Given the description of an element on the screen output the (x, y) to click on. 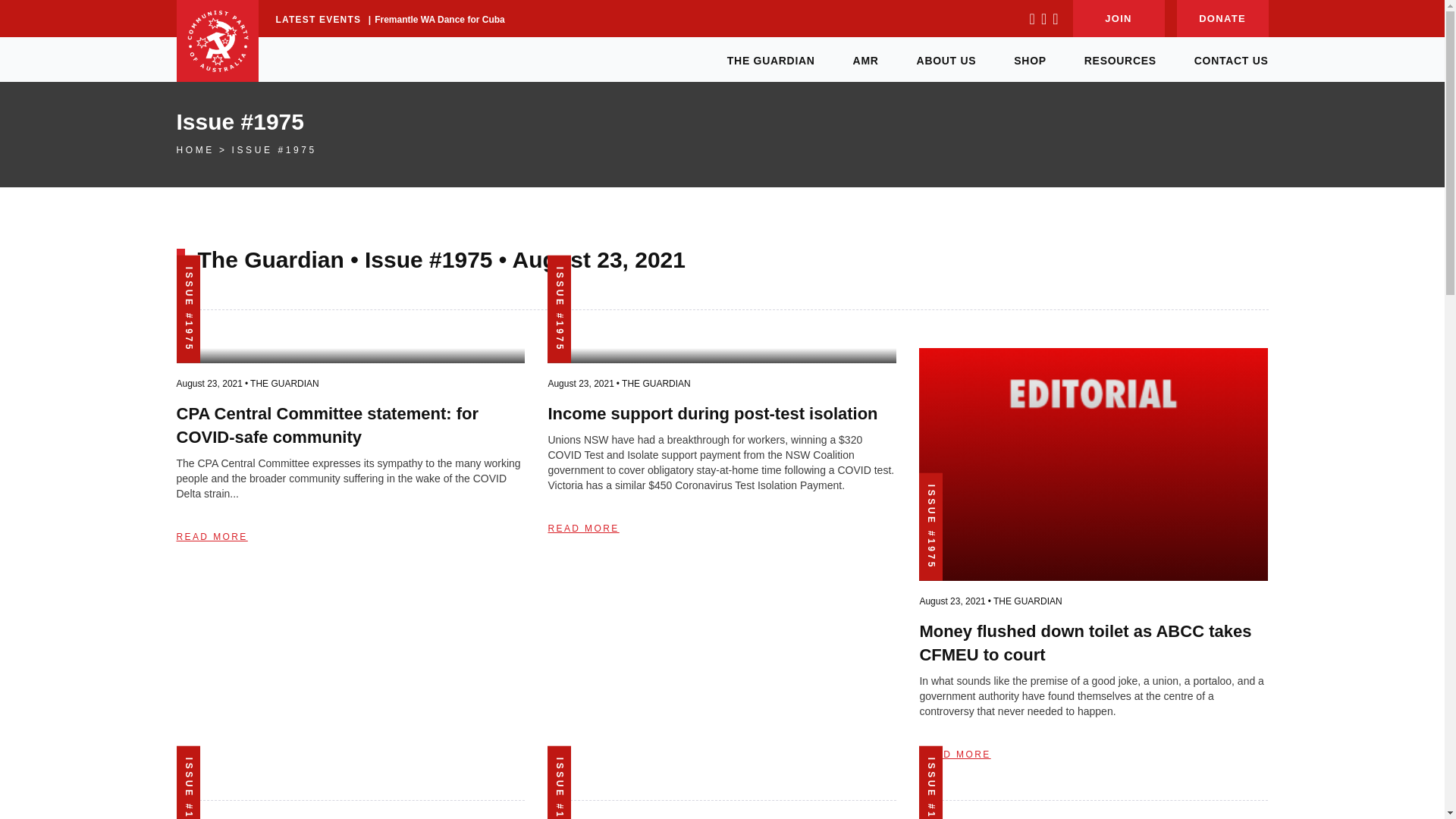
Fremantle WA Dance for Cuba (439, 19)
JOIN (1117, 18)
THE GUARDIAN (770, 58)
DONATE (1222, 18)
ABOUT US (946, 58)
